Given the description of an element on the screen output the (x, y) to click on. 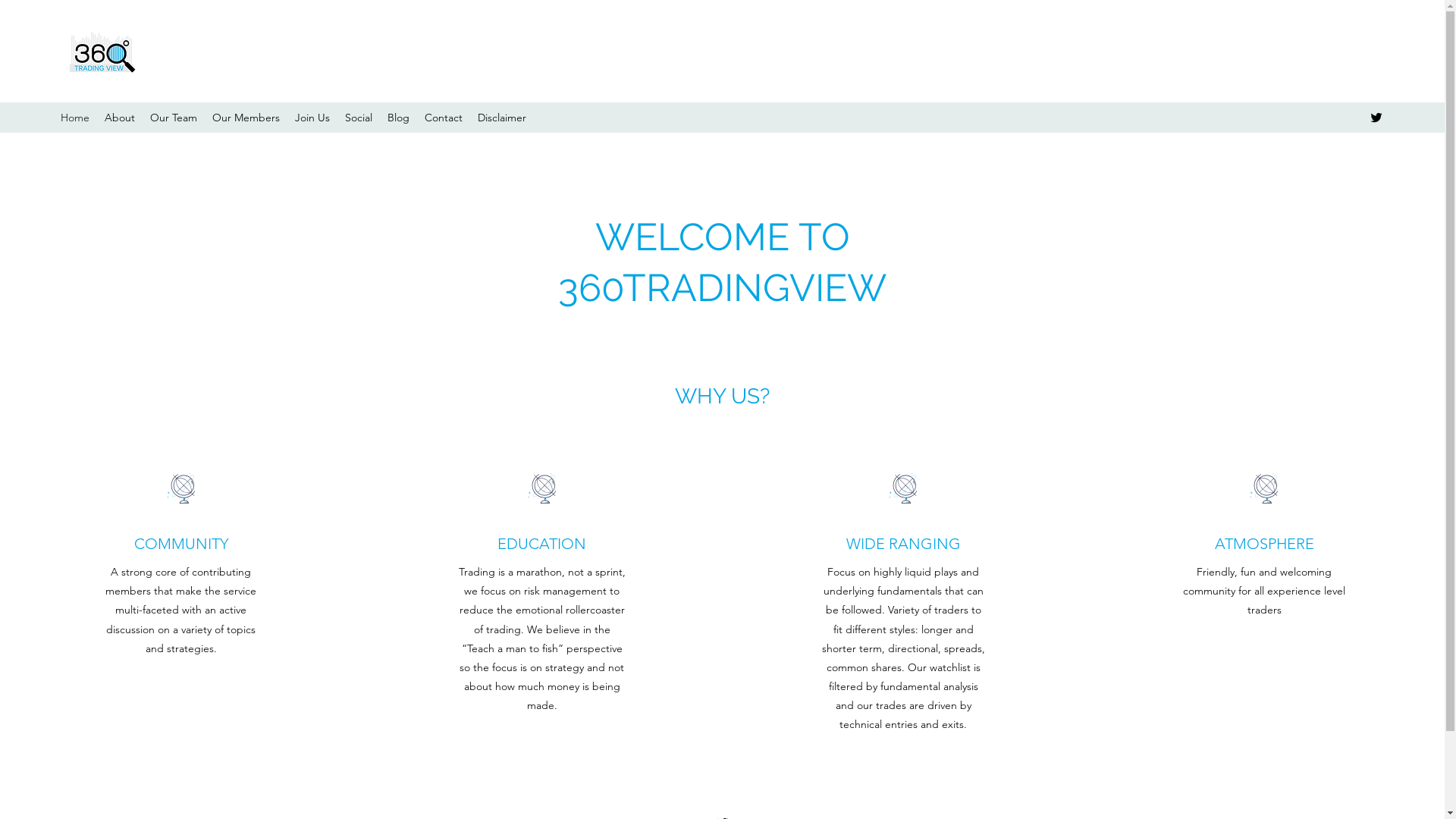
Our Members Element type: text (245, 117)
Contact Element type: text (443, 117)
Join Us Element type: text (312, 117)
Social Element type: text (358, 117)
Our Team Element type: text (173, 117)
Home Element type: text (75, 117)
Disclaimer Element type: text (501, 117)
Blog Element type: text (398, 117)
About Element type: text (119, 117)
